Given the description of an element on the screen output the (x, y) to click on. 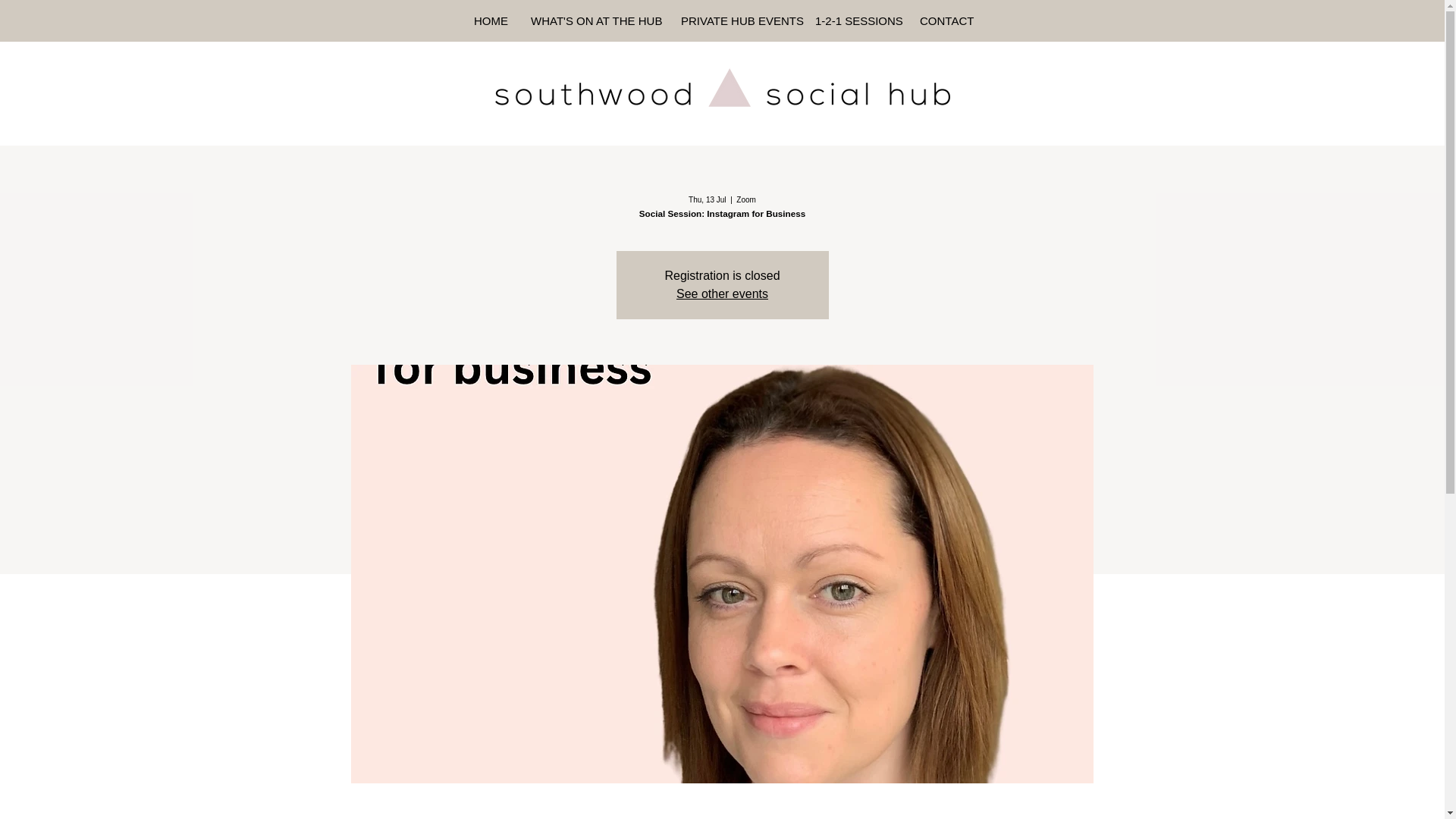
PRIVATE HUB EVENTS (736, 20)
1-2-1 SESSIONS (855, 20)
CONTACT (944, 20)
WHAT'S ON AT THE HUB (594, 20)
See other events (722, 293)
HOME (491, 20)
